Given the description of an element on the screen output the (x, y) to click on. 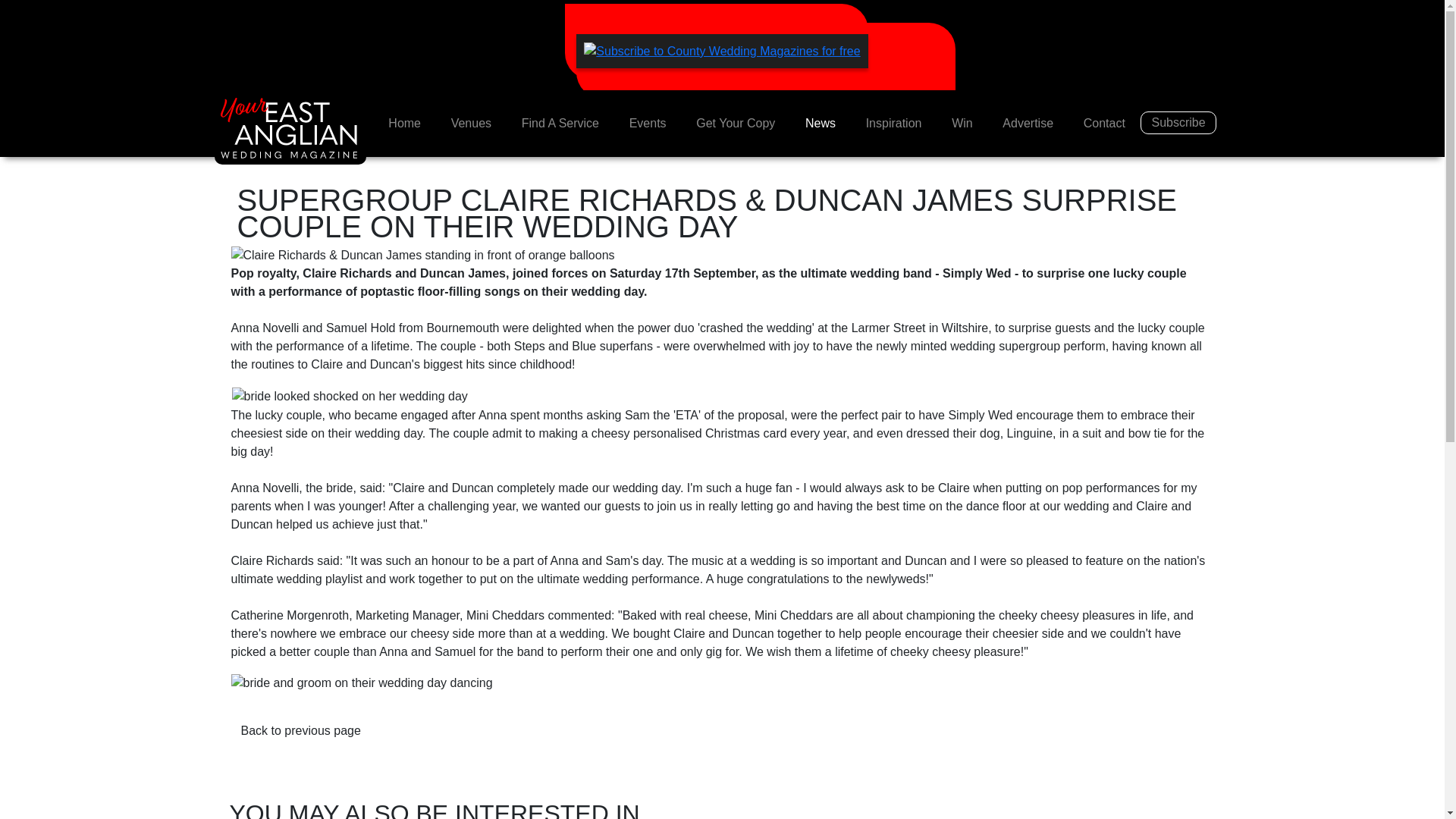
Subscribe to Your East Anglian Wedding magazine for free (1178, 122)
Events (647, 123)
Back to previous page (299, 730)
Advertise (1028, 123)
Advertise with Your East Anglian Wedding magazine (1028, 123)
Contact (1104, 123)
Your East Anglian Wedding (403, 123)
Contact the team at Your East Anglian Wedding magazine (1104, 123)
Home (403, 123)
